Given the description of an element on the screen output the (x, y) to click on. 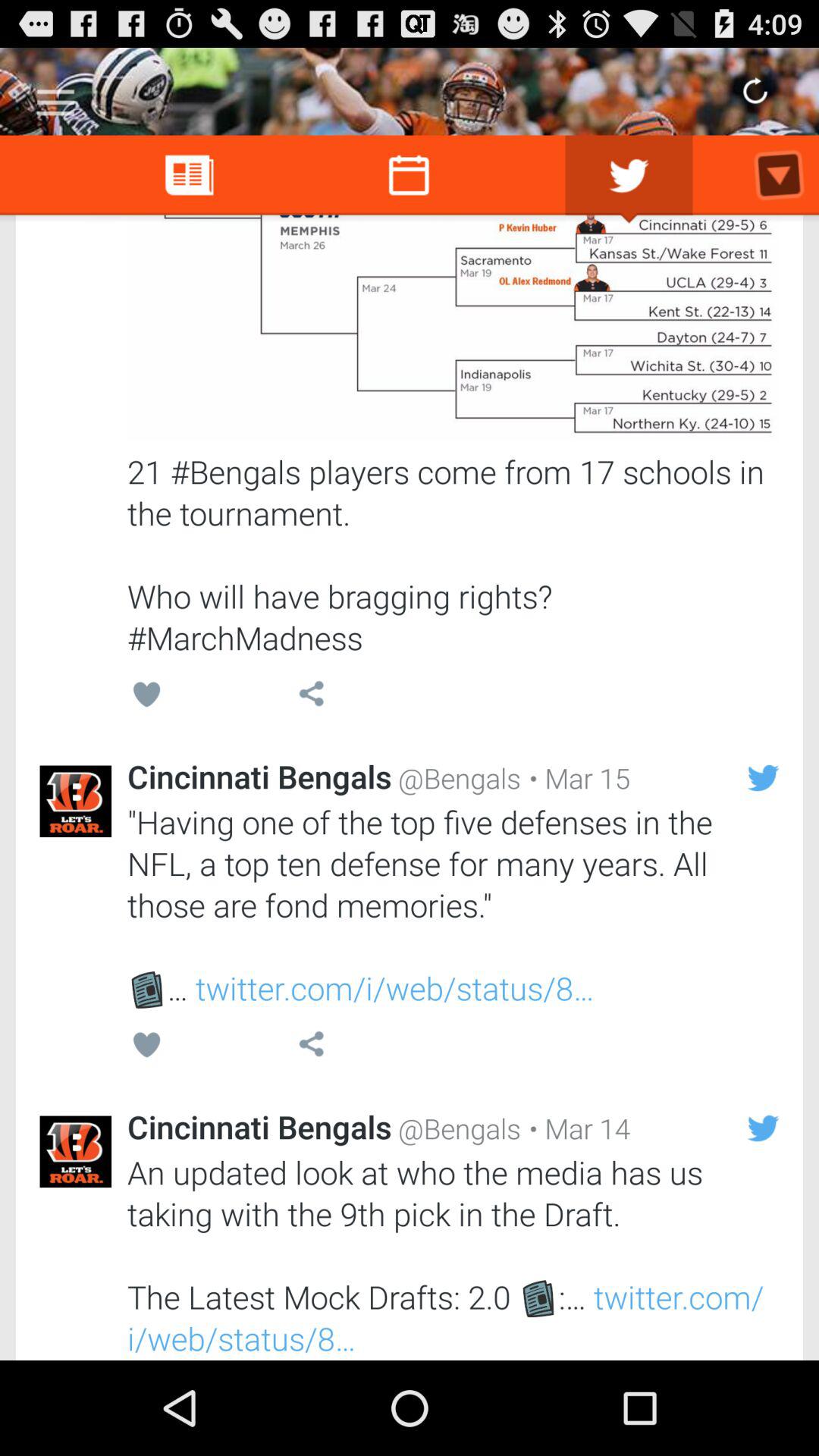
click the item below the cincinnati bengals item (453, 904)
